Given the description of an element on the screen output the (x, y) to click on. 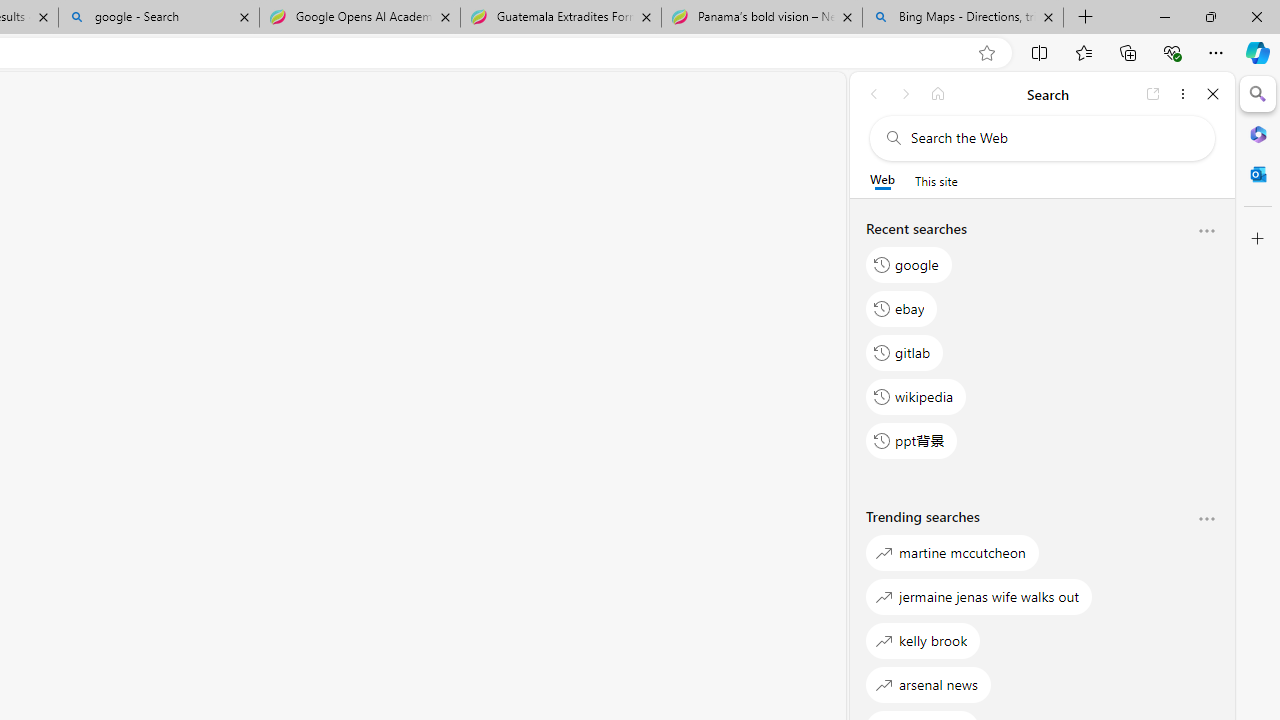
jermaine jenas wife walks out (979, 596)
wikipedia (916, 396)
google (909, 264)
